Given the description of an element on the screen output the (x, y) to click on. 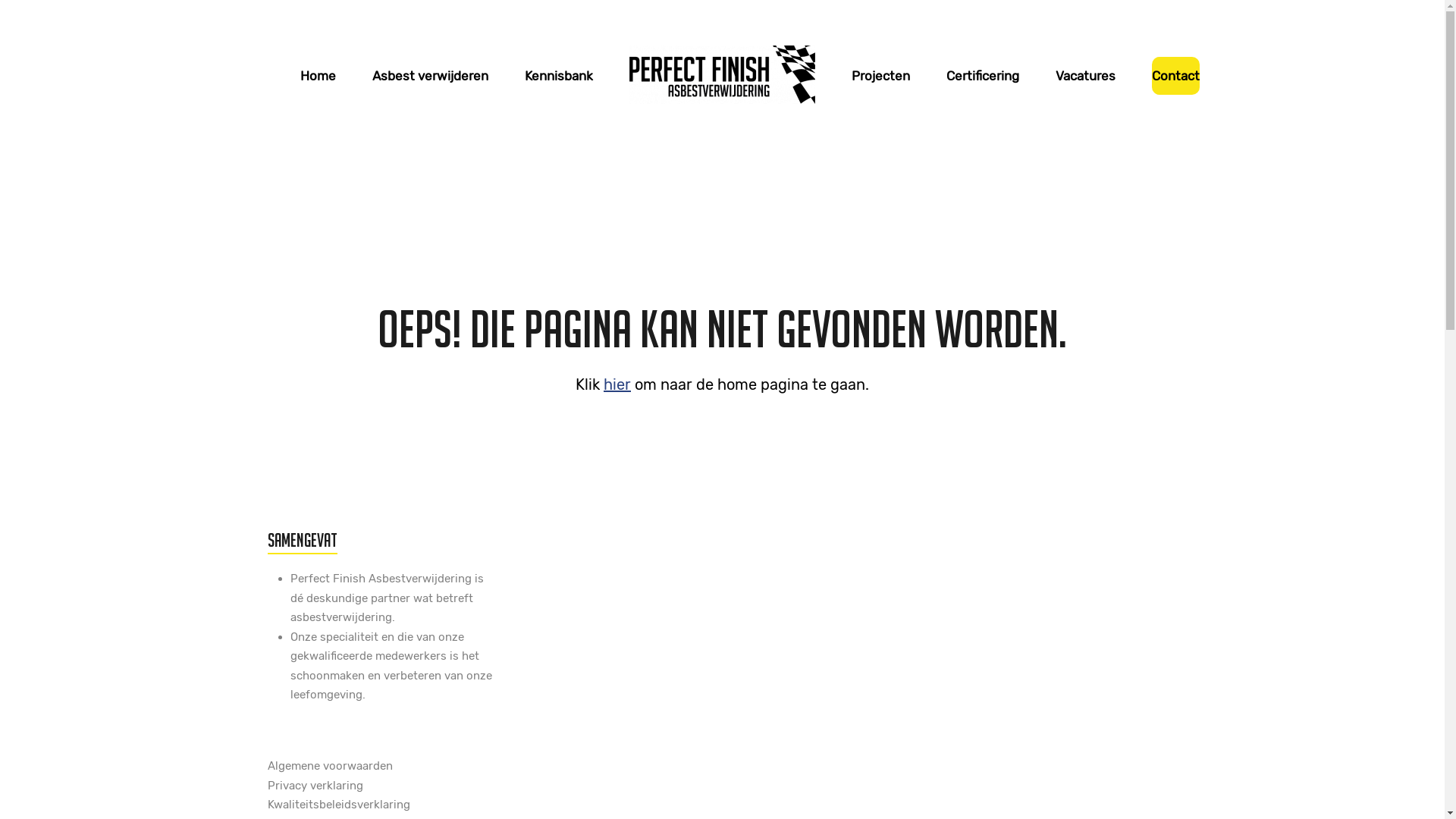
Kennisbank Element type: text (558, 75)
Kwaliteitsbeleidsverklaring Element type: text (337, 804)
Projecten Element type: text (880, 75)
Algemene voorwaarden Element type: text (329, 765)
hier Element type: text (616, 384)
Certificering Element type: text (982, 75)
Privacy verklaring Element type: text (314, 785)
Asbest verwijderen Element type: text (430, 75)
Home Element type: text (317, 75)
Vacatures Element type: text (1085, 75)
Contact Element type: text (1175, 75)
